Given the description of an element on the screen output the (x, y) to click on. 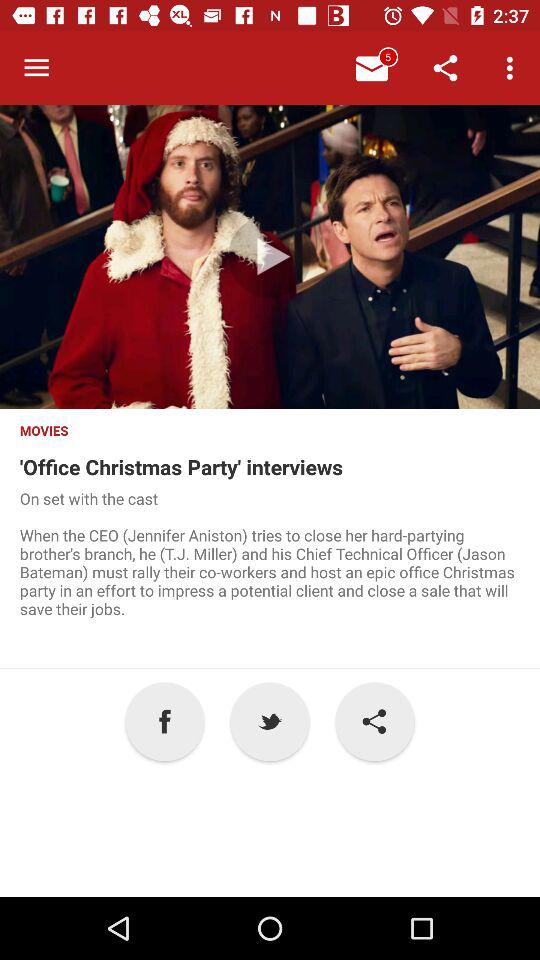
click on set with icon (270, 578)
